Given the description of an element on the screen output the (x, y) to click on. 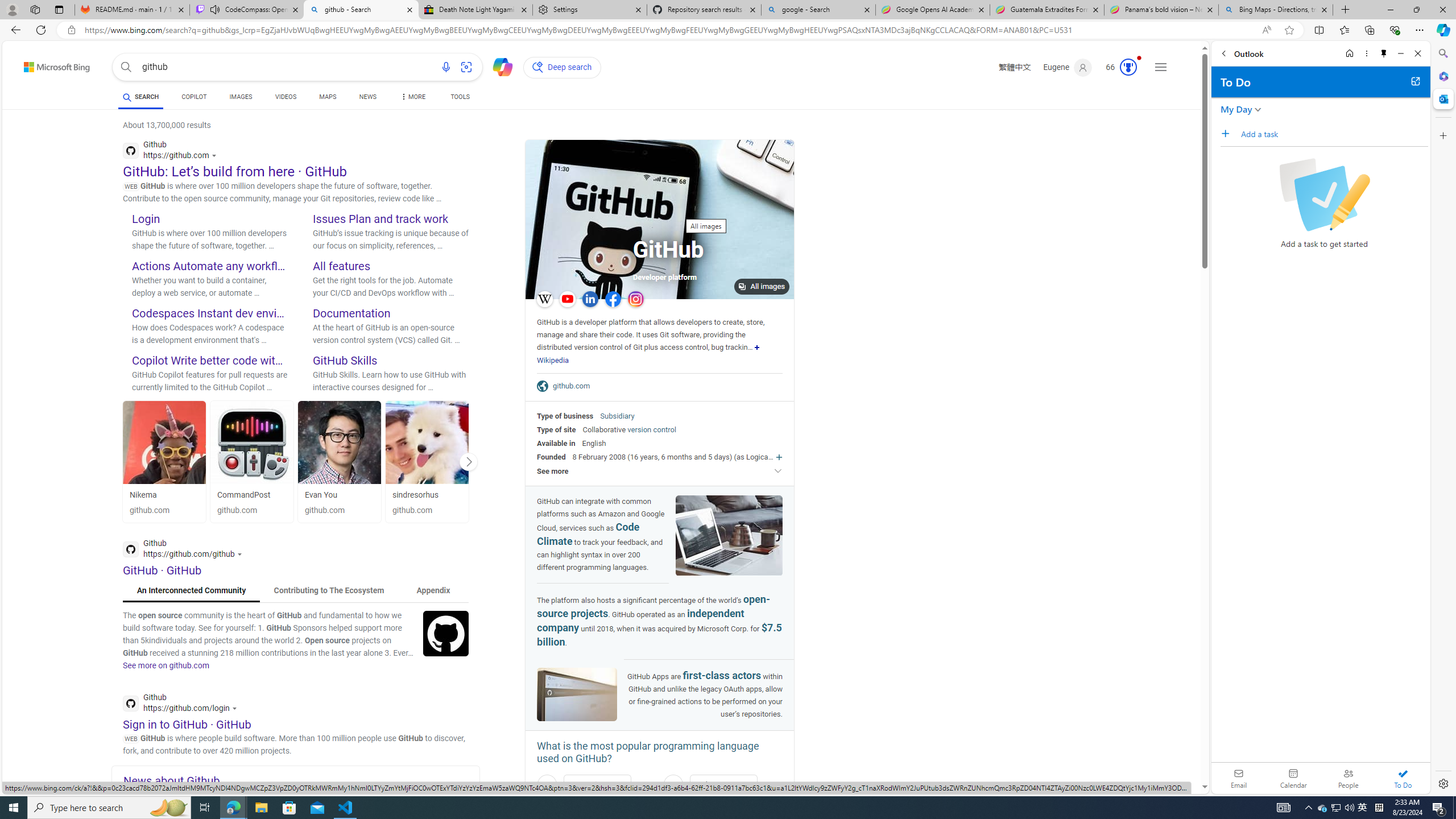
MORE (412, 98)
Search using an image (465, 66)
Back to Bing search (50, 64)
CommandPost CommandPost github.com (252, 461)
Search using voice (445, 66)
Type of business (565, 415)
Available in (556, 442)
See more on github.com (165, 665)
NEWS (367, 96)
